Given the description of an element on the screen output the (x, y) to click on. 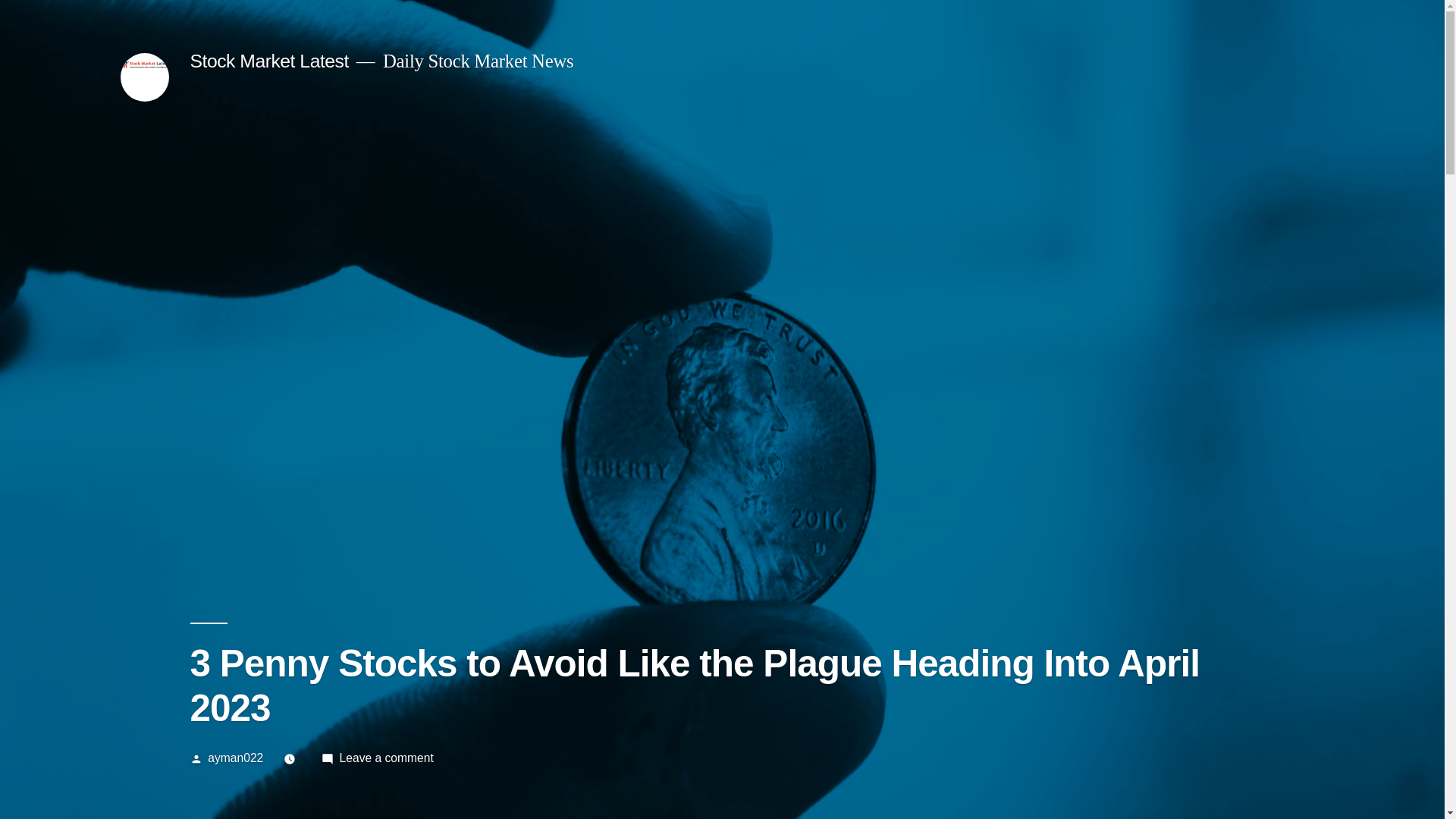
ayman022 (235, 757)
Stock Market Latest (268, 60)
